Given the description of an element on the screen output the (x, y) to click on. 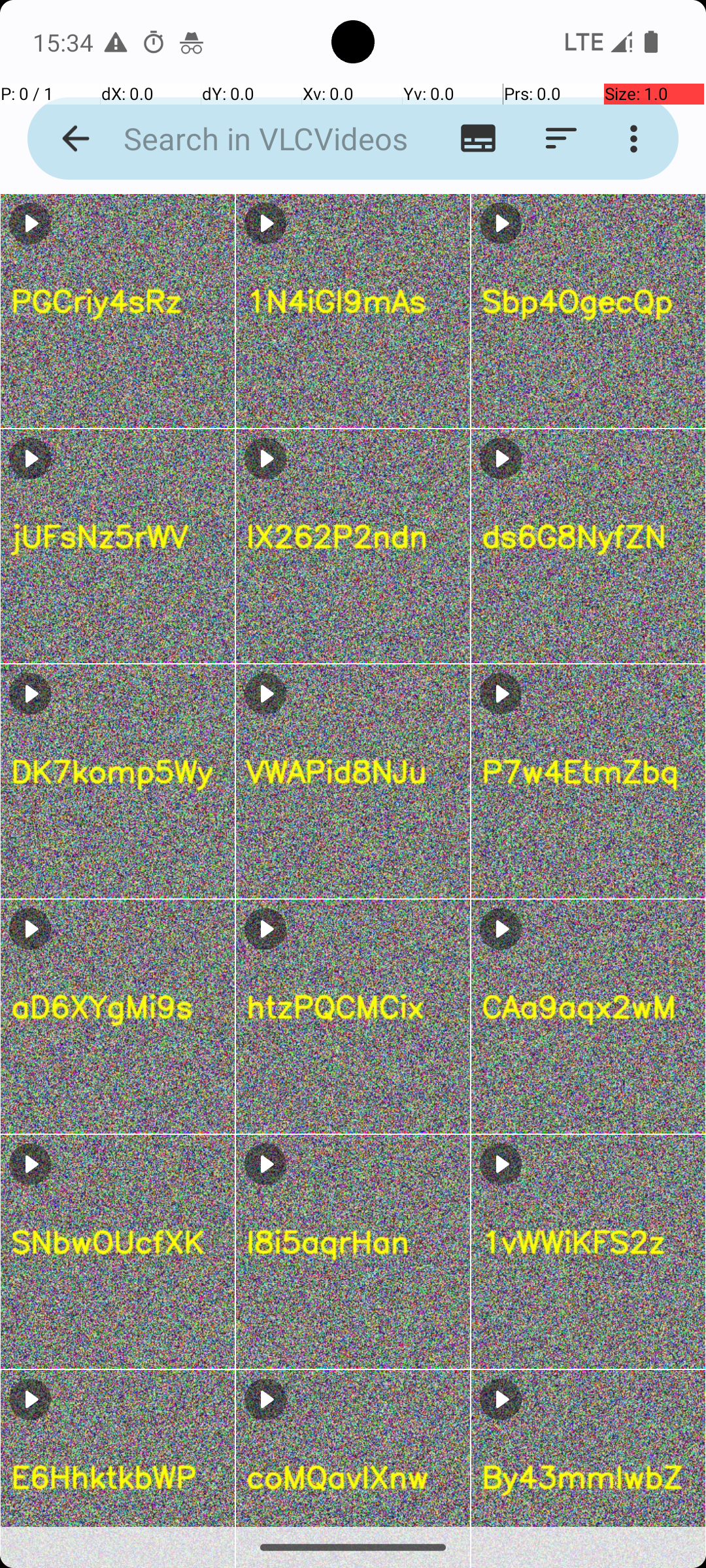
Search in VLCVideos Element type: android.widget.EditText (252, 138)
